Given the description of an element on the screen output the (x, y) to click on. 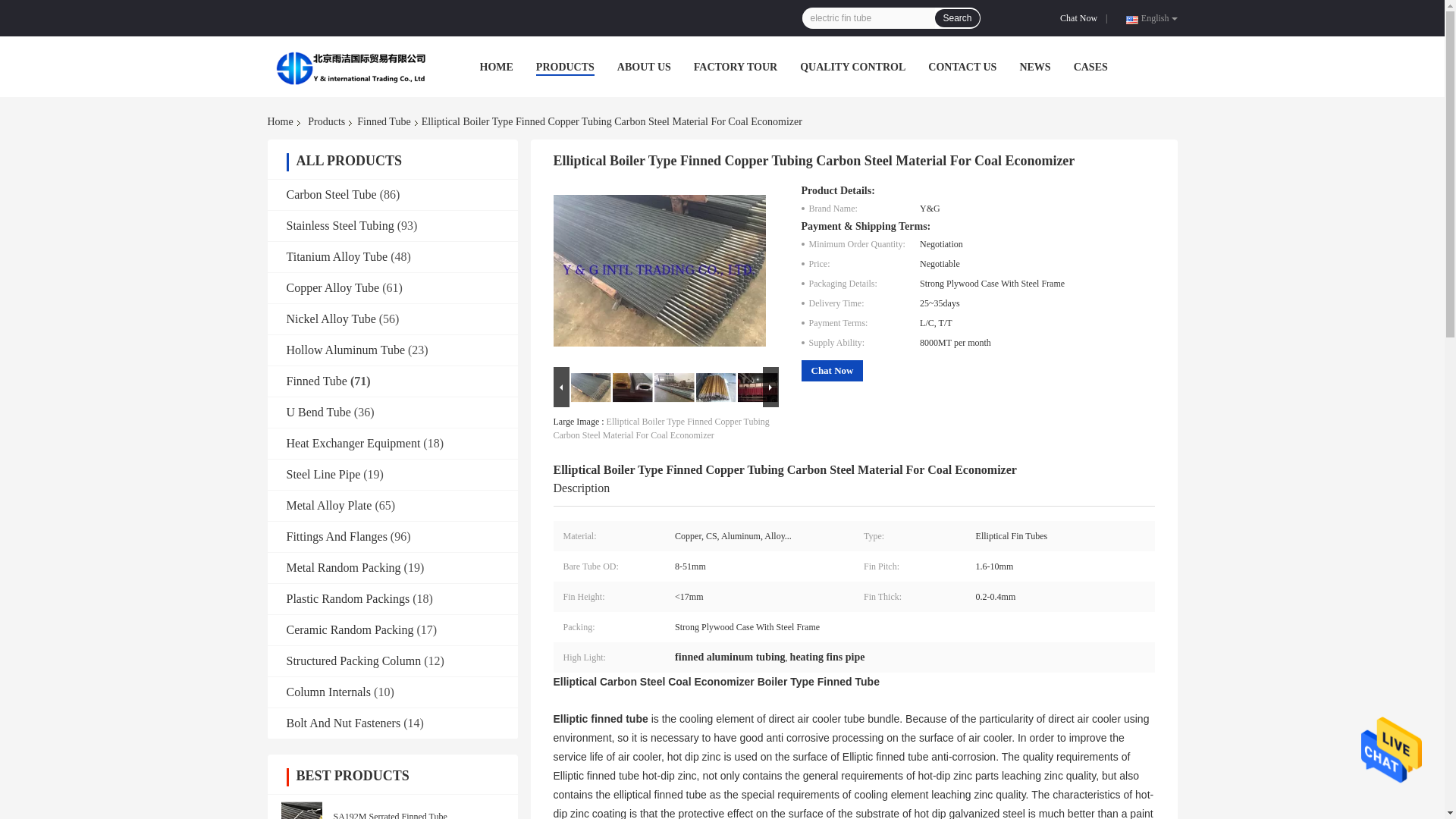
ABOUT US (644, 66)
PRODUCTS (564, 66)
Chat Now (1081, 18)
Home (282, 121)
FACTORY TOUR (735, 66)
Products (325, 121)
Search (956, 18)
NEWS (1034, 66)
QUALITY CONTROL (852, 66)
Copper Alloy Tube (333, 287)
Stainless Steel Tubing (340, 225)
Titanium Alloy Tube (337, 256)
CONTACT US (961, 66)
HOME (495, 66)
CASES (1091, 66)
